Given the description of an element on the screen output the (x, y) to click on. 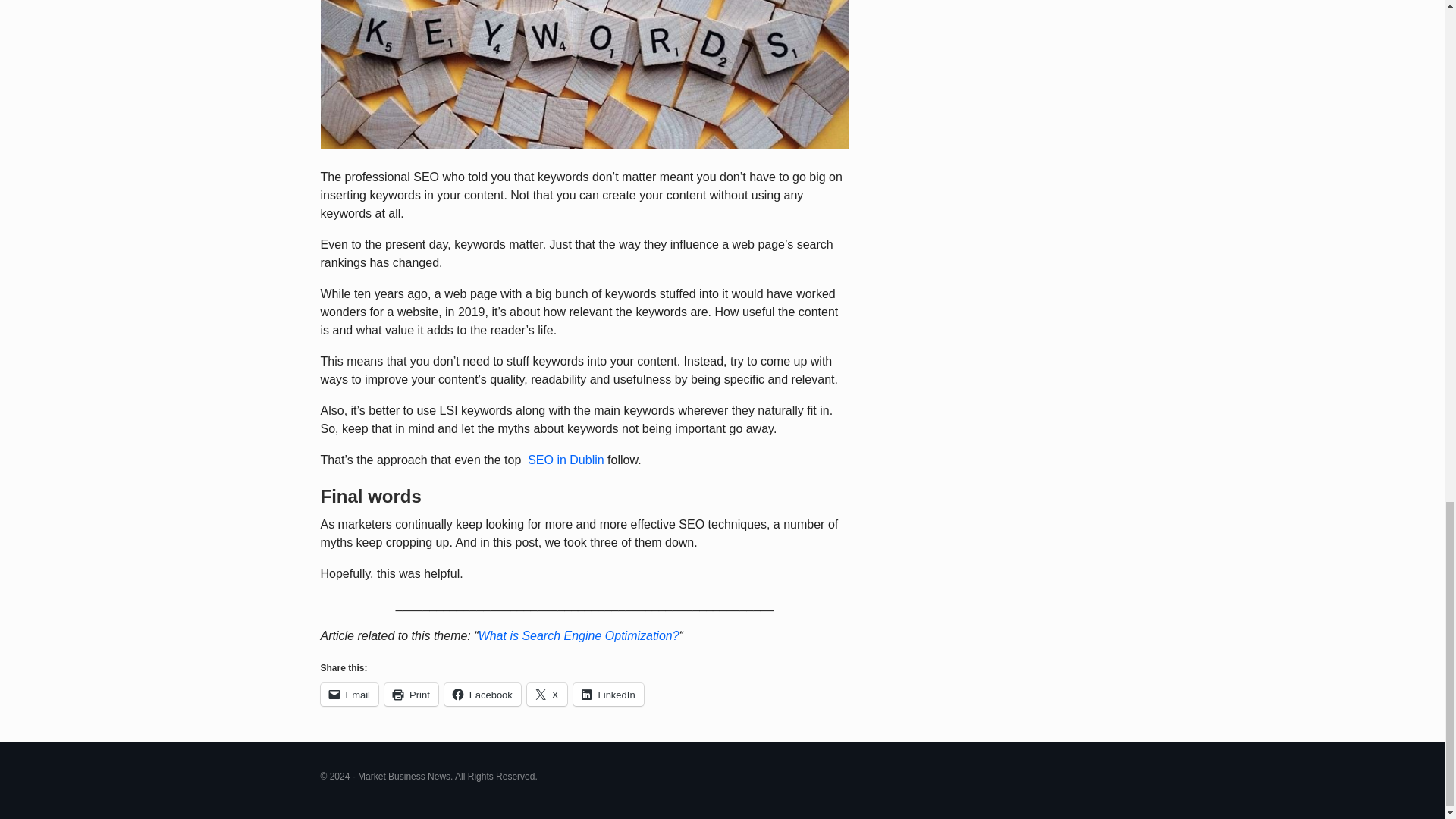
LinkedIn (608, 694)
SEO in Dublin (565, 459)
Print (411, 694)
Click to share on Facebook (482, 694)
Click to share on LinkedIn (608, 694)
Click to email a link to a friend (349, 694)
Click to print (411, 694)
X (547, 694)
Click to share on X (547, 694)
What is Search Engine Optimization? (579, 635)
